Given the description of an element on the screen output the (x, y) to click on. 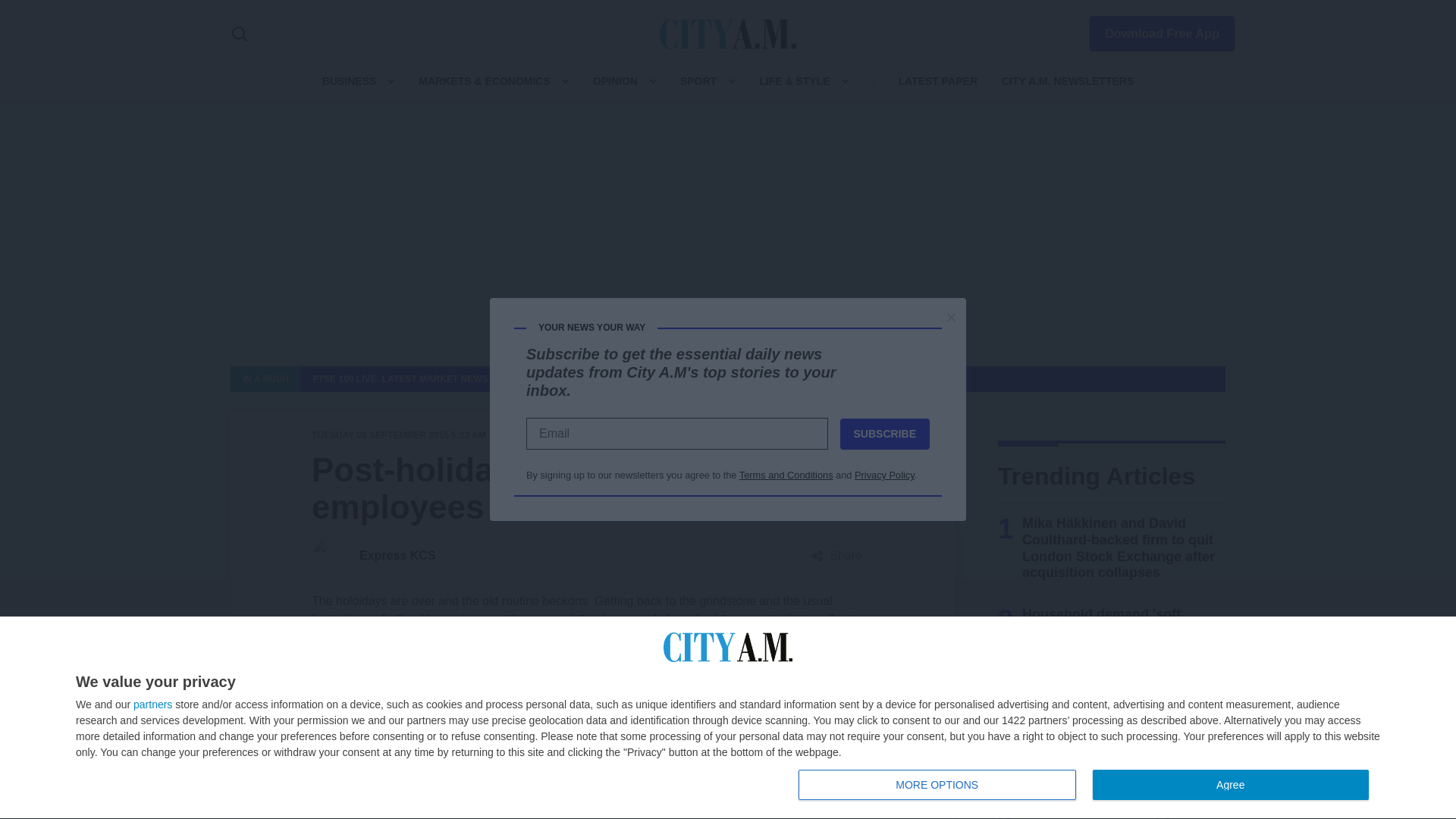
partners (152, 704)
CityAM (727, 33)
BUSINESS (1086, 785)
Download Free App (349, 80)
MORE OPTIONS (1152, 30)
Agree (936, 784)
